Given the description of an element on the screen output the (x, y) to click on. 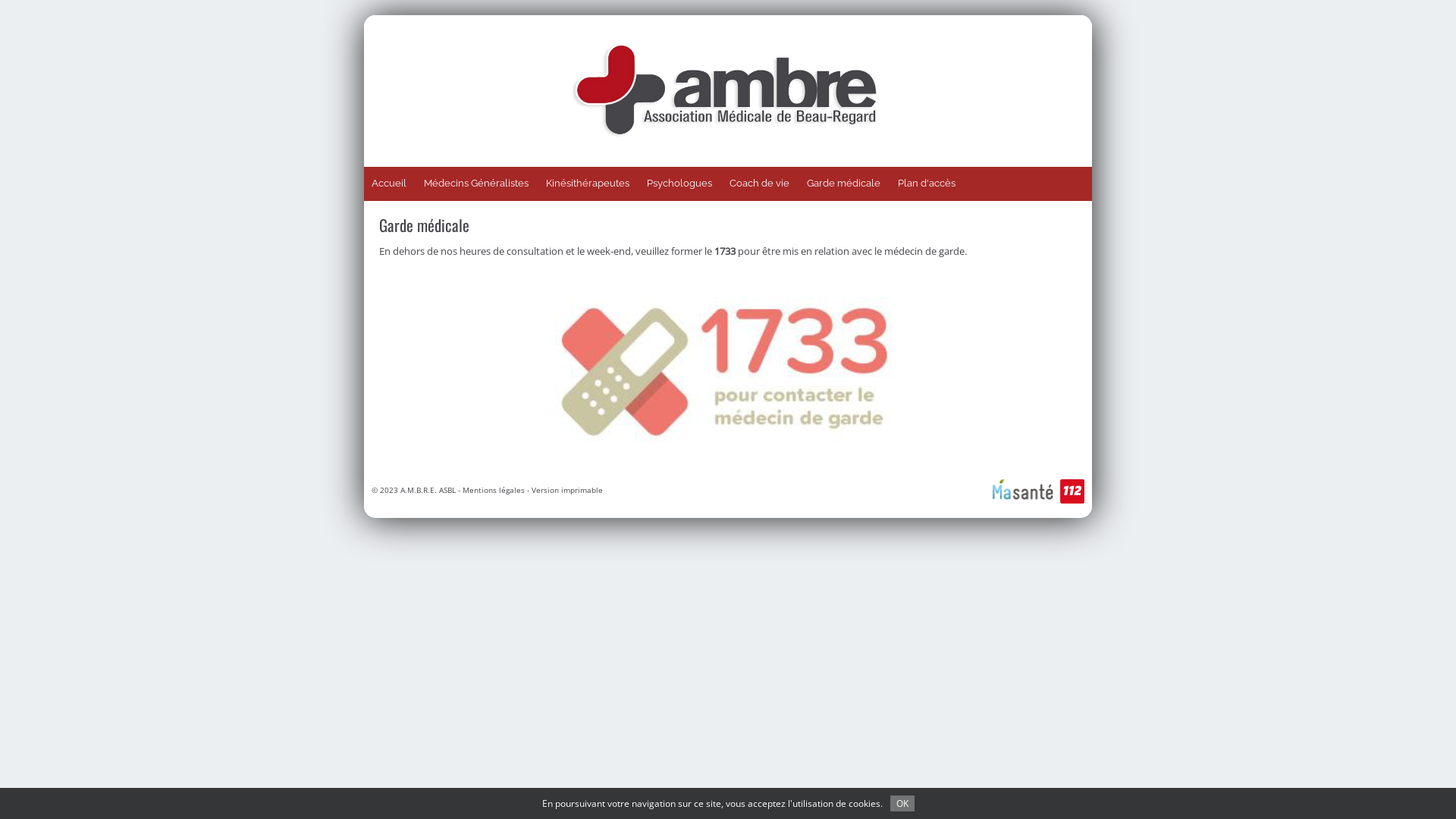
Coach de vie Element type: text (759, 183)
Accueil Element type: text (389, 183)
Version imprimable Element type: text (566, 489)
Psychologues Element type: text (679, 183)
